Given the description of an element on the screen output the (x, y) to click on. 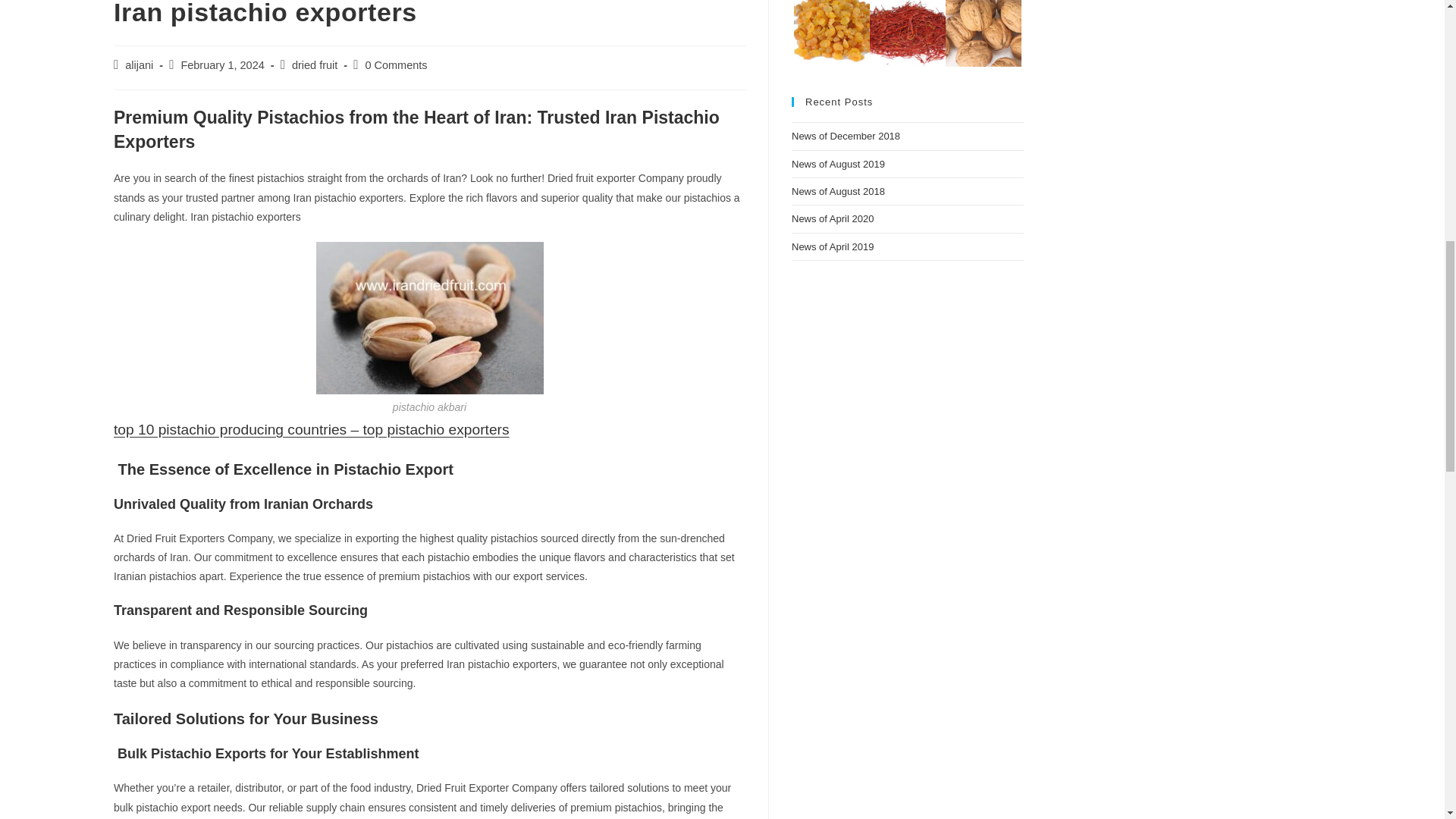
dried fruit (314, 64)
Posts by alijani (138, 64)
0 Comments (395, 64)
alijani (138, 64)
